Given the description of an element on the screen output the (x, y) to click on. 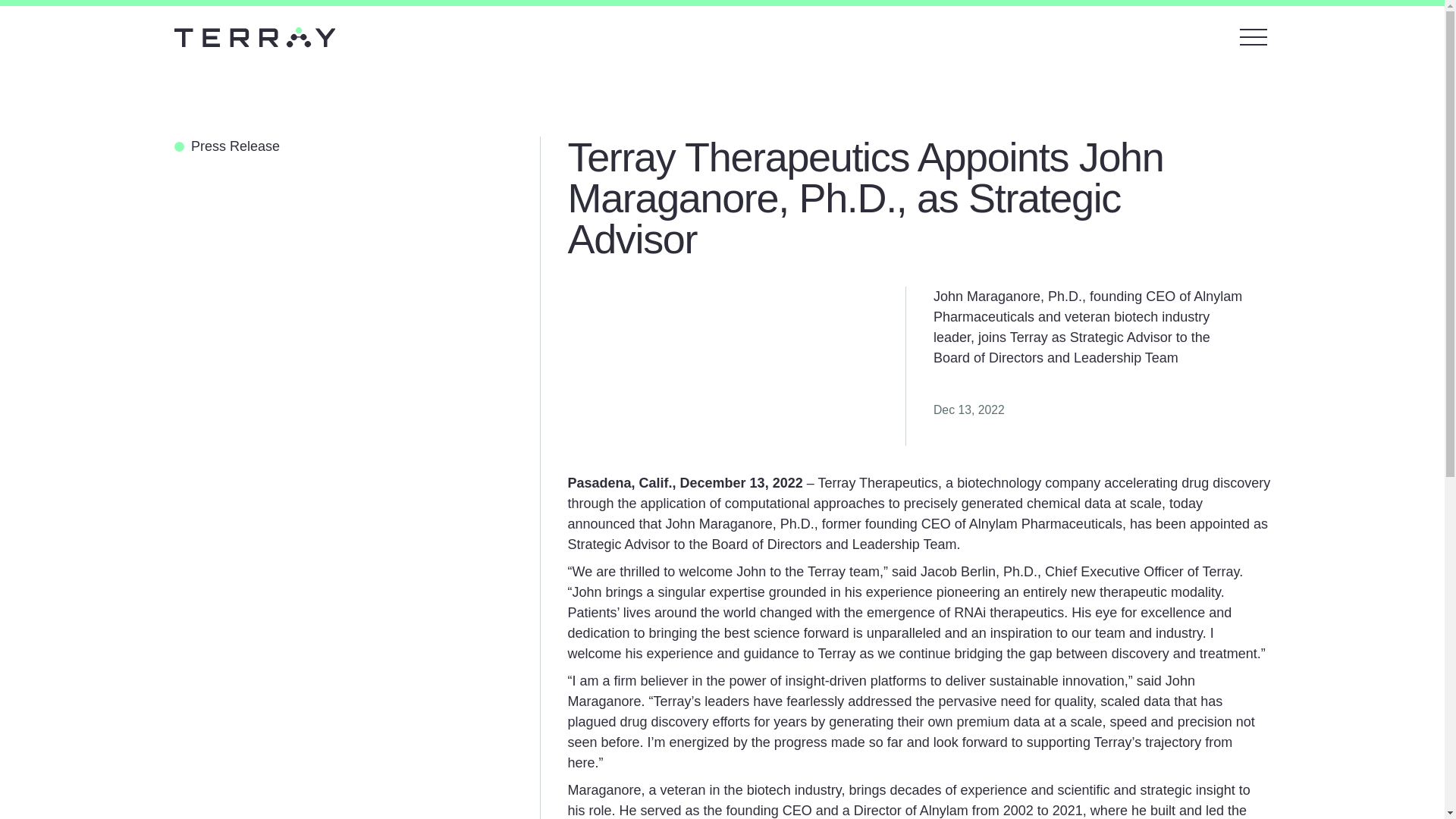
Press Release (357, 146)
